Given the description of an element on the screen output the (x, y) to click on. 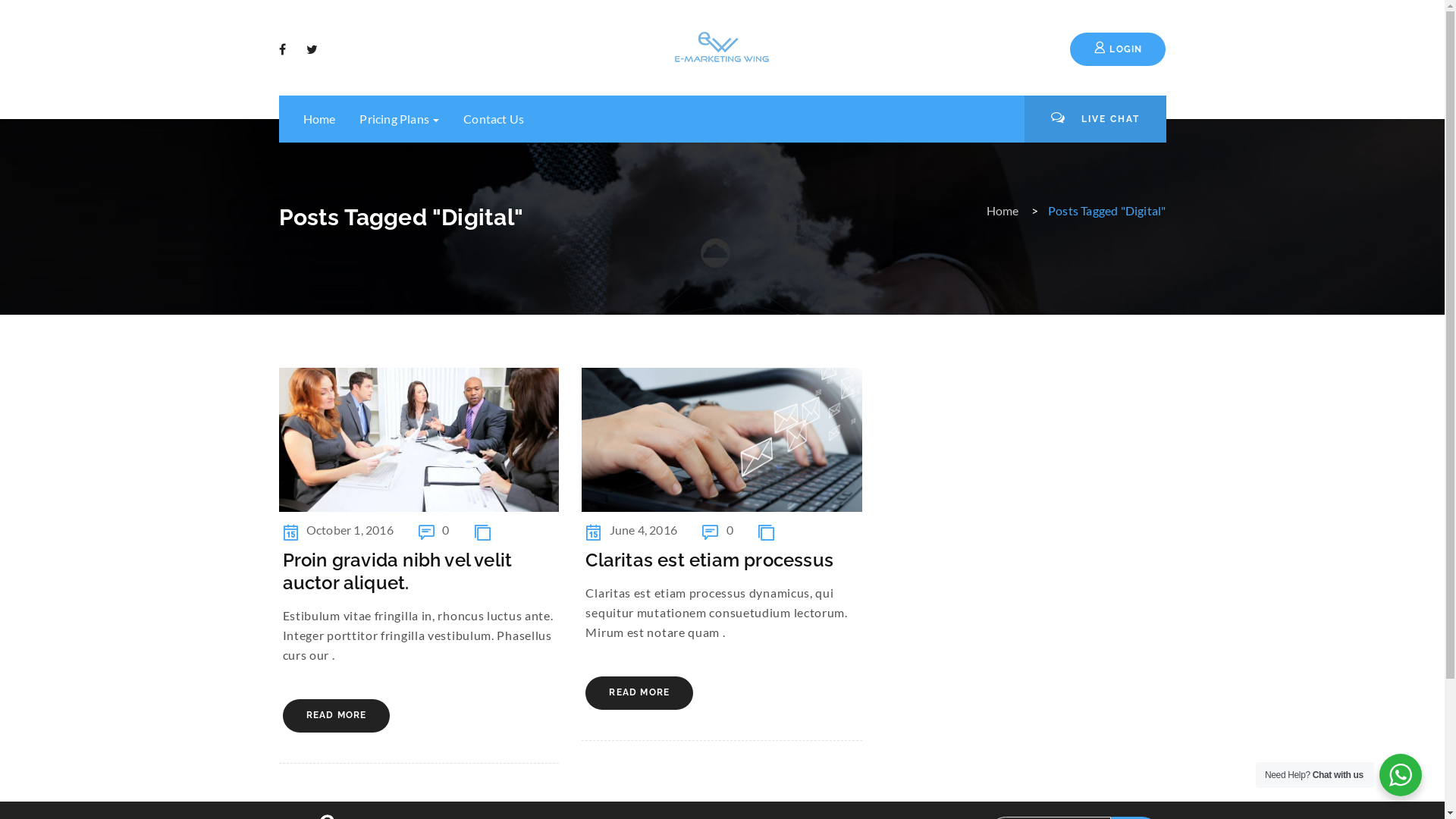
Claritas est etiam processus Element type: text (709, 560)
Contact Us Element type: text (493, 118)
Home Element type: text (1002, 210)
LOGIN Element type: text (1117, 49)
  Element type: text (283, 48)
  Element type: text (313, 48)
READ MORE Element type: text (639, 692)
Pricing Plans Element type: text (399, 118)
Proin gravida nibh vel velit auctor aliquet. Element type: text (396, 571)
Home Element type: text (319, 118)
READ MORE Element type: text (335, 715)
LIVE CHAT Element type: text (1094, 118)
